Given the description of an element on the screen output the (x, y) to click on. 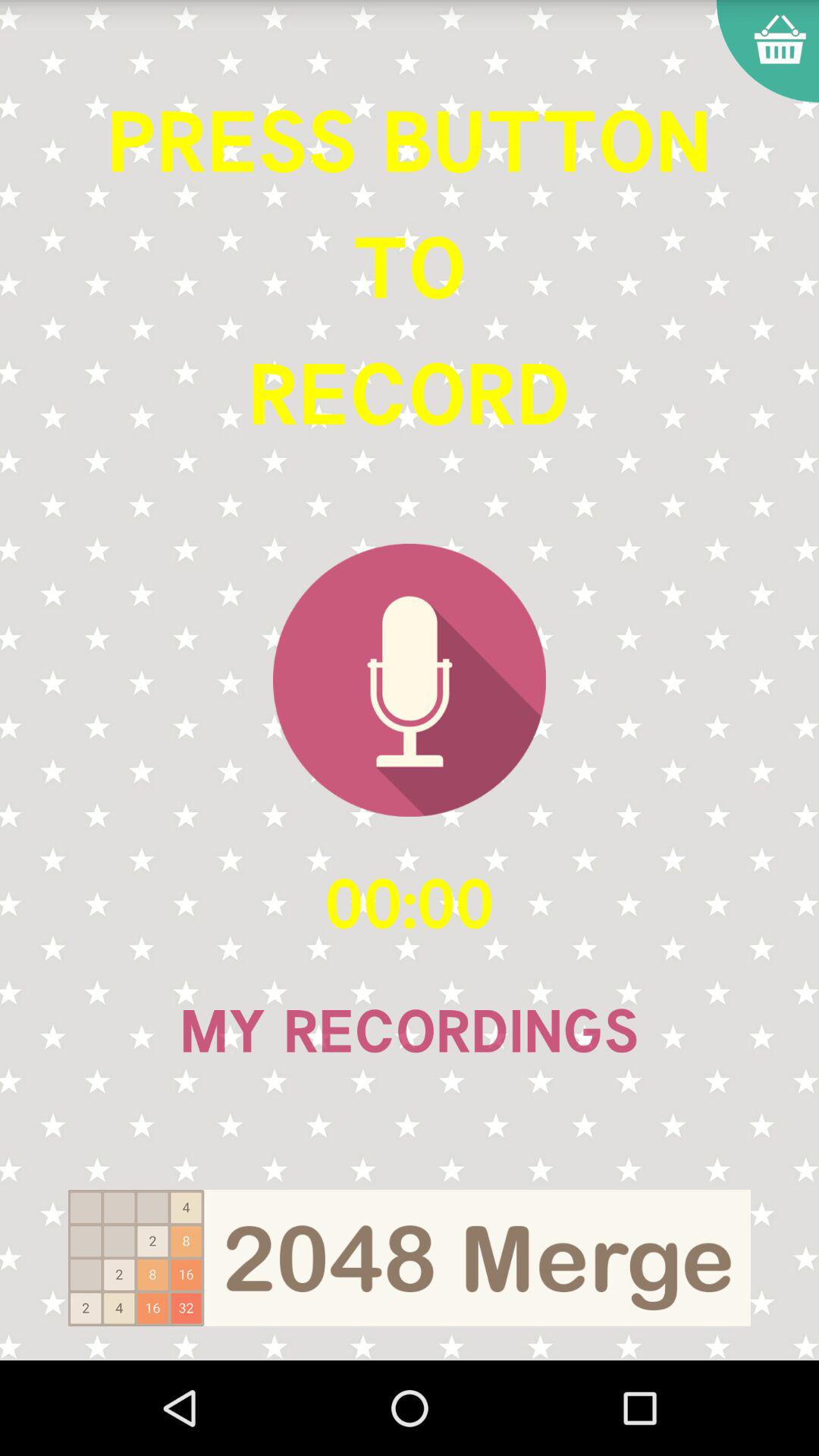
press the icon below my recordings (409, 1257)
